Given the description of an element on the screen output the (x, y) to click on. 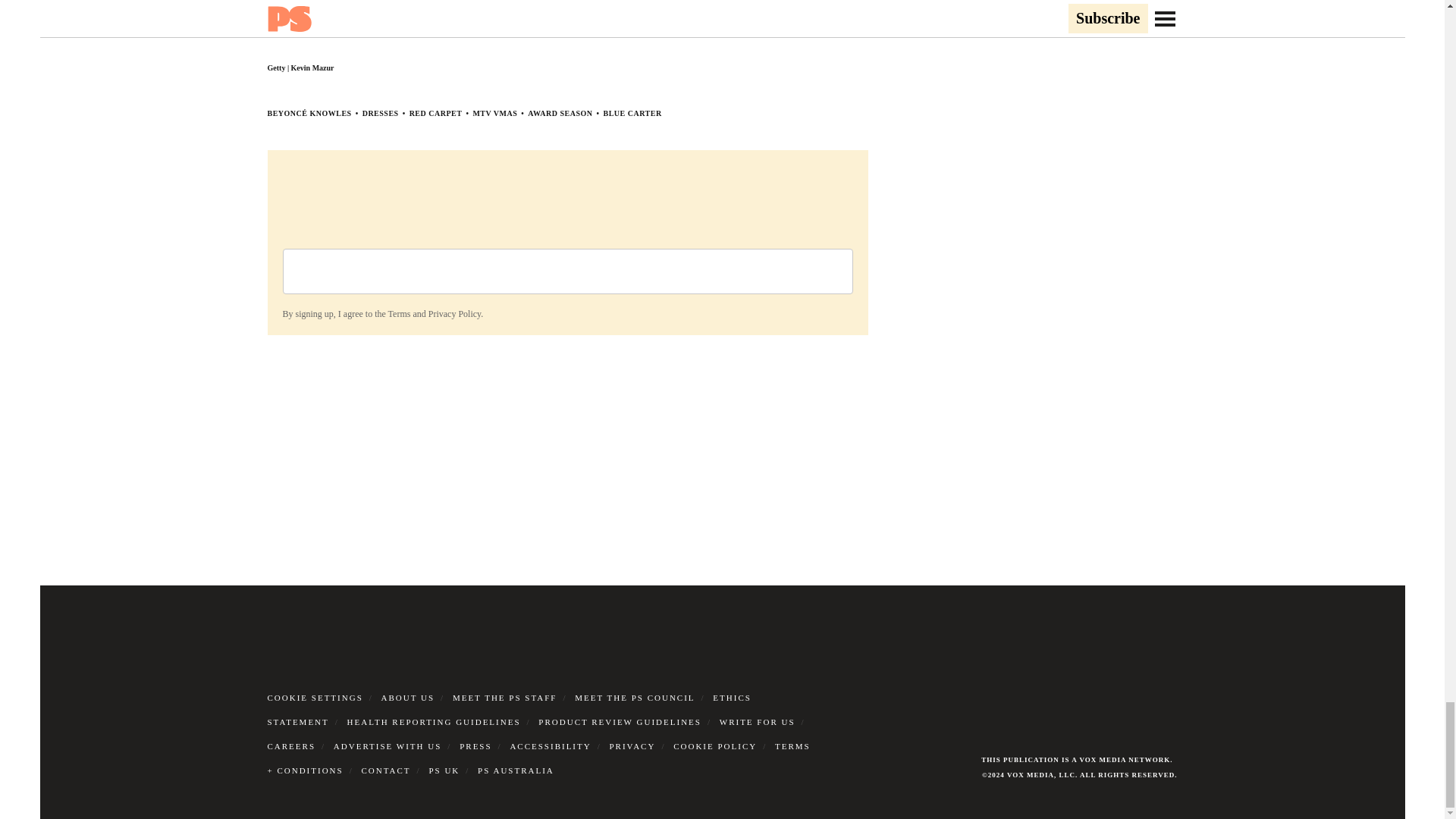
BLUE CARTER (633, 112)
Terms (399, 313)
MEET THE PS COUNCIL (634, 697)
HEALTH REPORTING GUIDELINES (434, 721)
RED CARPET (436, 112)
MTV VMAS (493, 112)
ABOUT US (408, 697)
ETHICS STATEMENT (508, 709)
MEET THE PS STAFF (504, 697)
AWARD SEASON (559, 112)
